Given the description of an element on the screen output the (x, y) to click on. 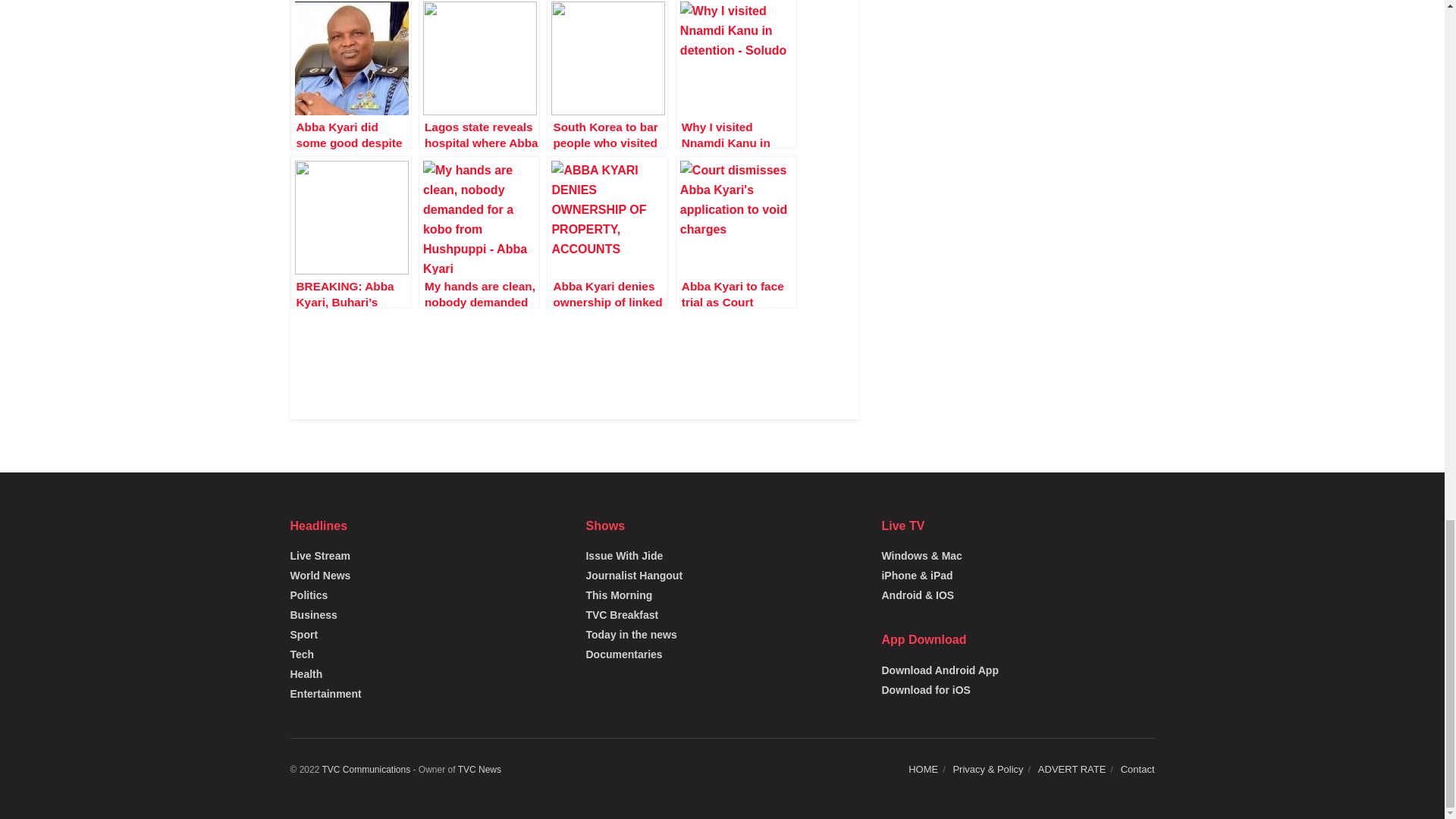
TVC News (479, 769)
